Given the description of an element on the screen output the (x, y) to click on. 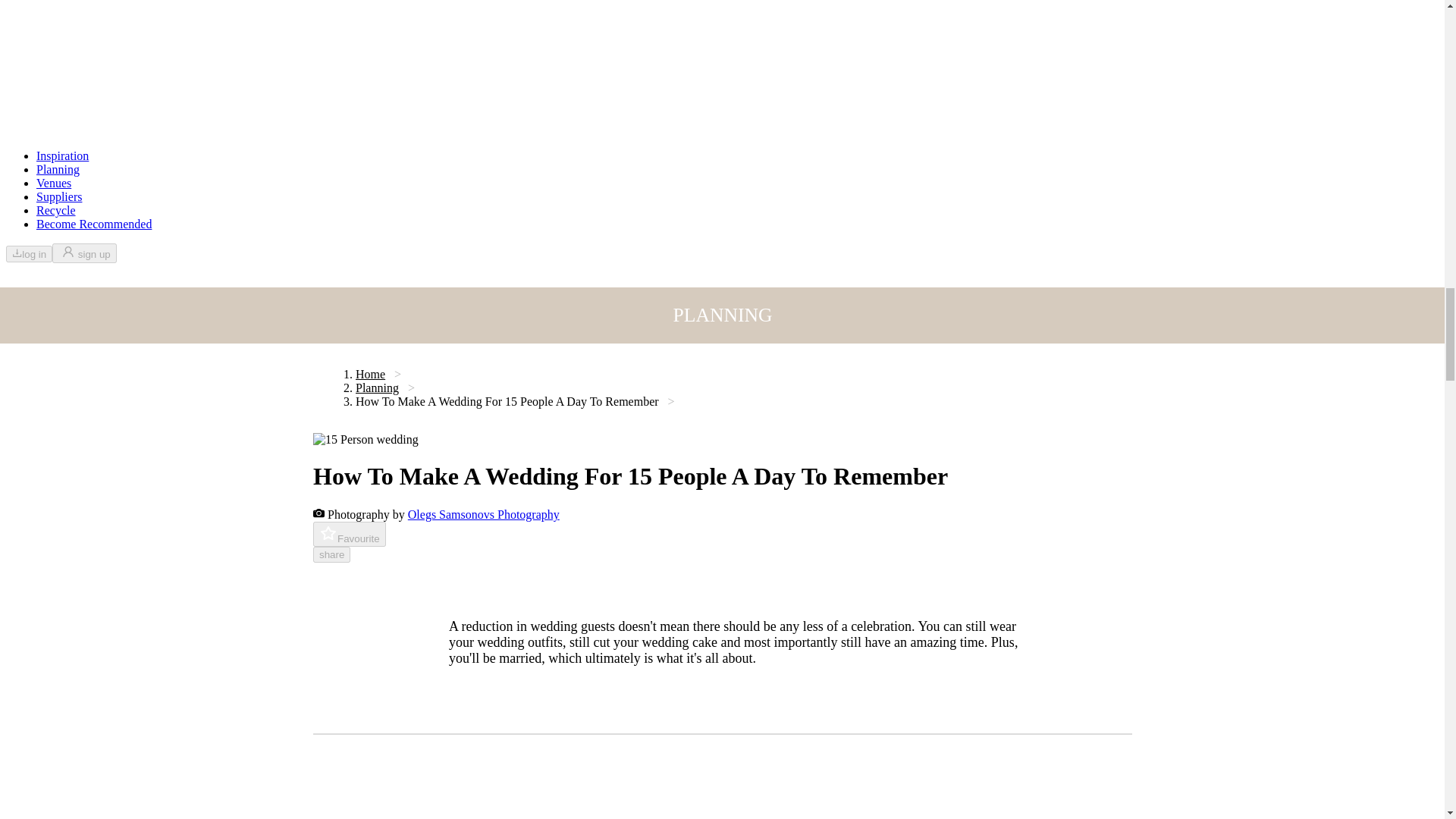
Recycle (55, 210)
Inspiration (62, 155)
sign up (84, 252)
Venues (53, 182)
Home (369, 373)
PLANNING (722, 315)
Planning (376, 387)
Planning (58, 169)
share (331, 554)
Favourite (349, 534)
